Given the description of an element on the screen output the (x, y) to click on. 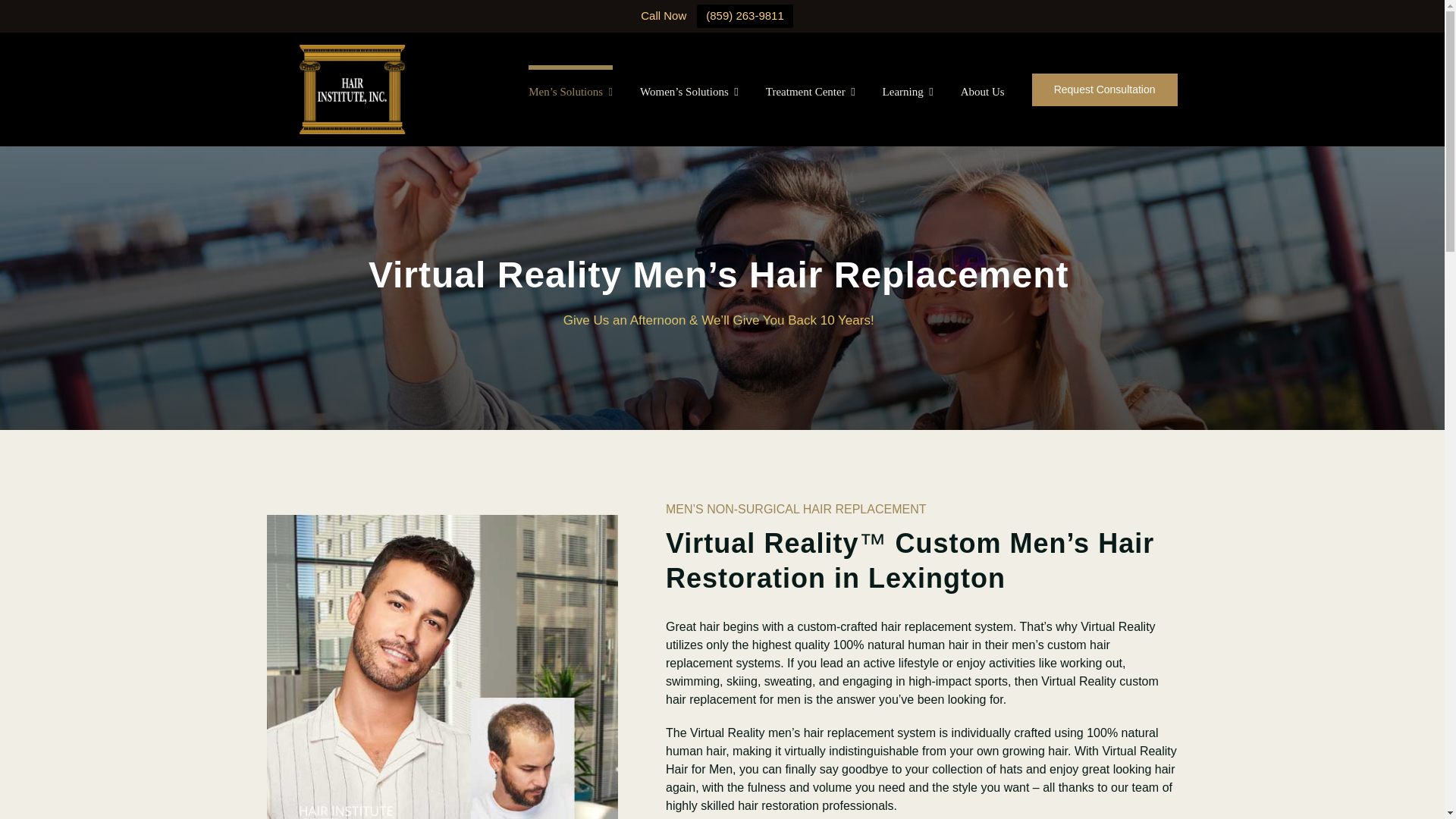
About Us (982, 89)
Treatment Center (810, 89)
Request Consultation (1104, 89)
Mens-hair-restoration-lexington-kentucky (441, 667)
Learning (907, 89)
